Given the description of an element on the screen output the (x, y) to click on. 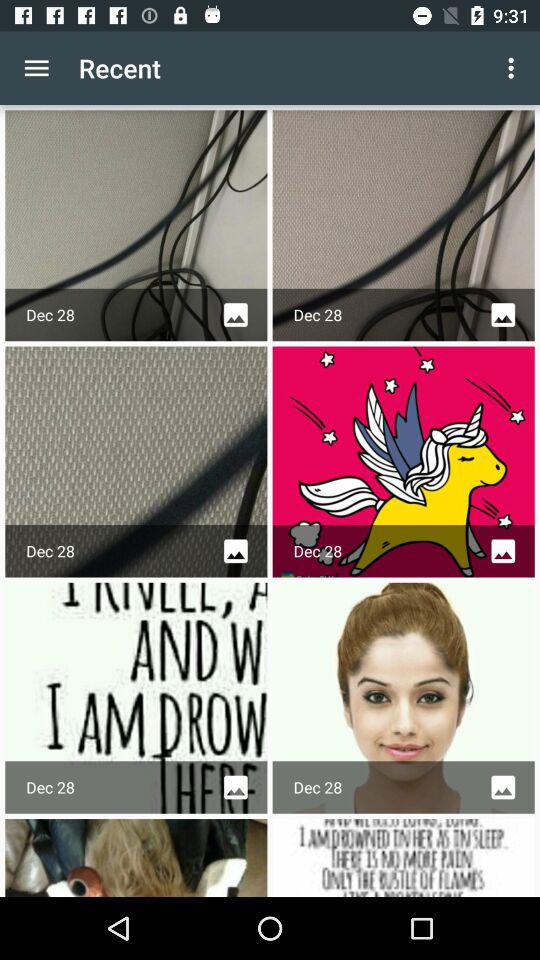
choose item next to the recent icon (513, 67)
